Given the description of an element on the screen output the (x, y) to click on. 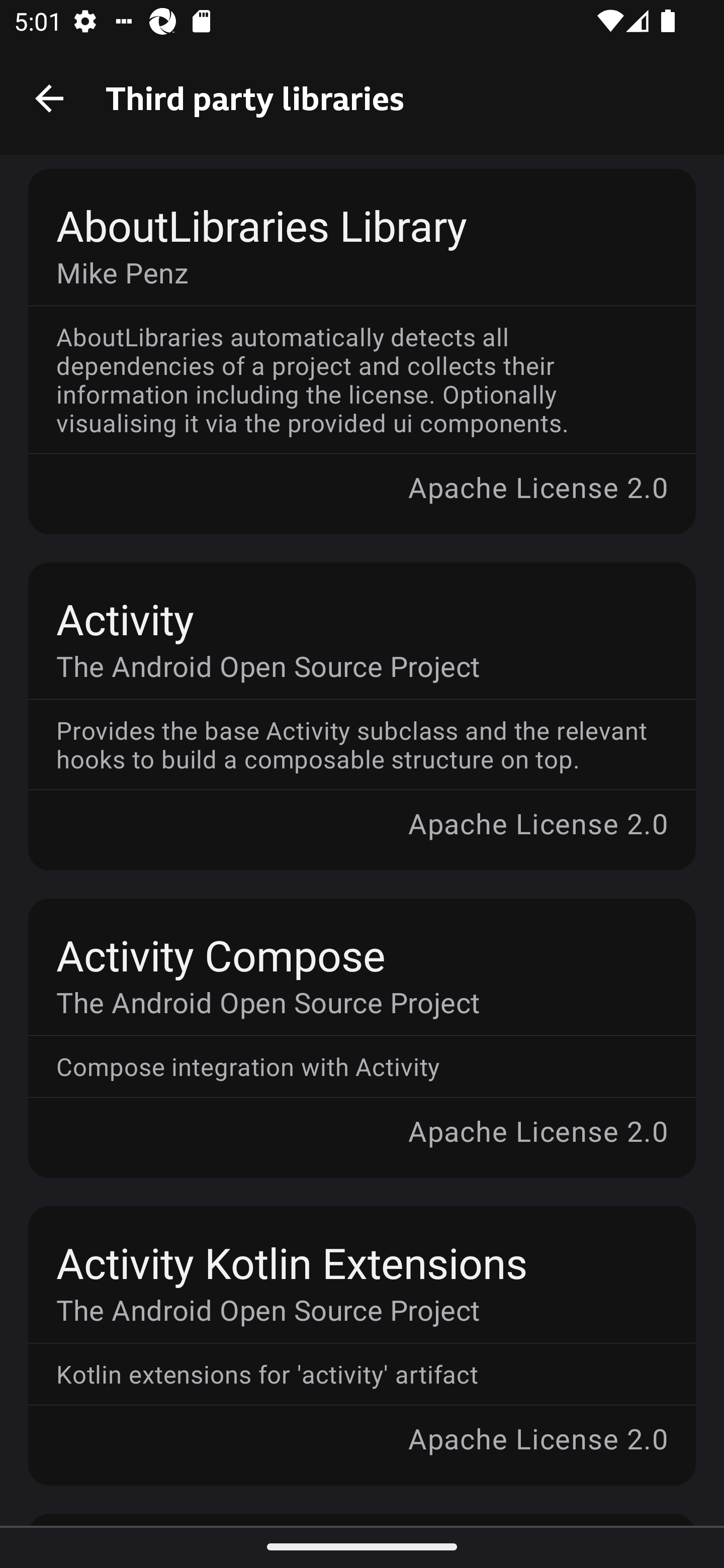
Back (49, 97)
Mike Penz (347, 272)
Apache License 2.0 (361, 500)
The Android Open Source Project (347, 665)
Apache License 2.0 (361, 837)
The Android Open Source Project (347, 1001)
Apache License 2.0 (361, 1144)
The Android Open Source Project (347, 1309)
Apache License 2.0 (361, 1451)
